Given the description of an element on the screen output the (x, y) to click on. 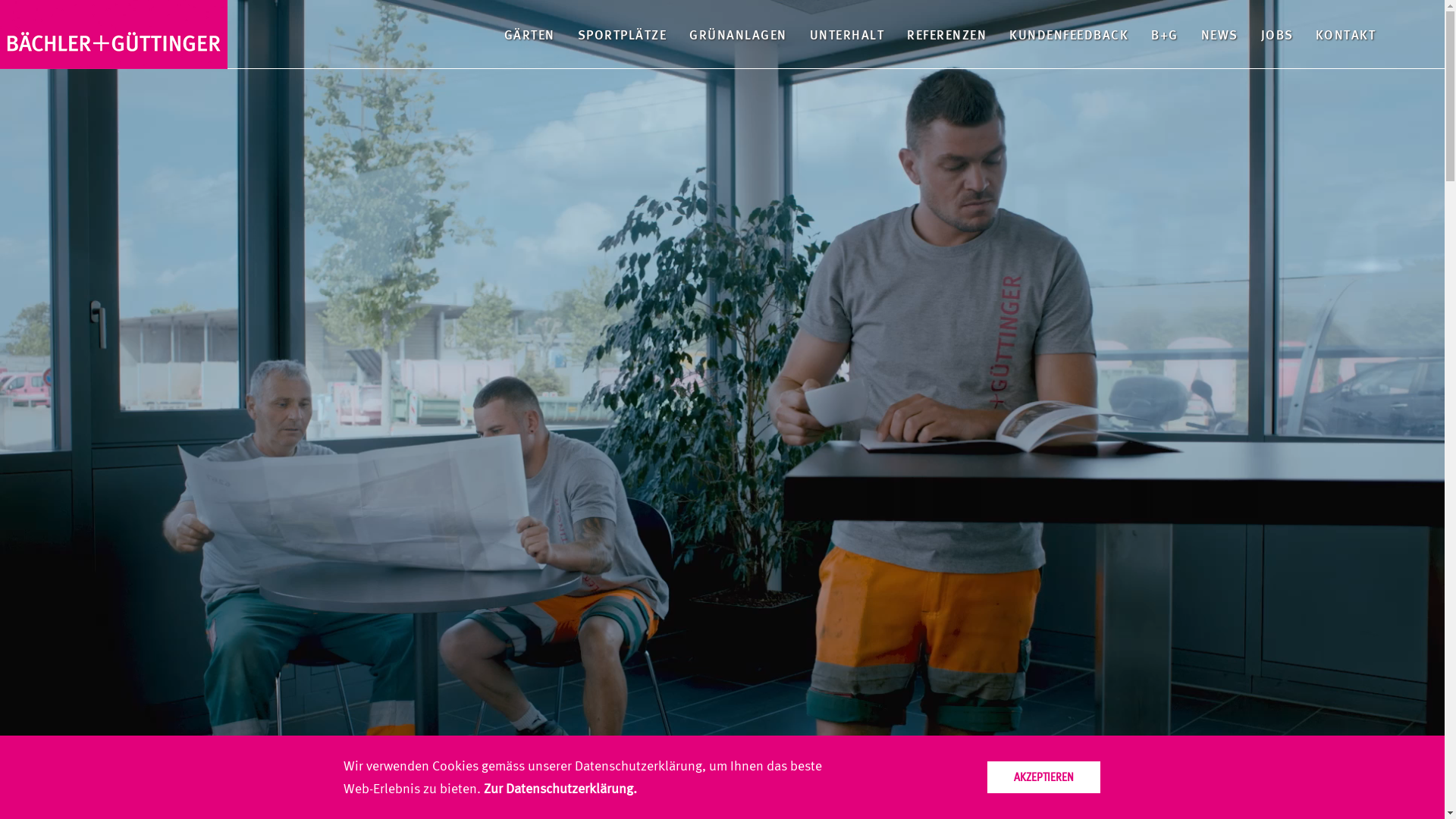
Akzeptieren Element type: text (1043, 776)
JOBS Element type: text (1276, 34)
KUNDENFEEDBACK Element type: text (1068, 34)
UNTERHALT Element type: text (846, 34)
KONTAKT Element type: text (1344, 34)
NEWS Element type: text (1219, 34)
REFERENZEN Element type: text (946, 34)
B+G Element type: text (1164, 34)
BG Element type: hover (113, 34)
